Given the description of an element on the screen output the (x, y) to click on. 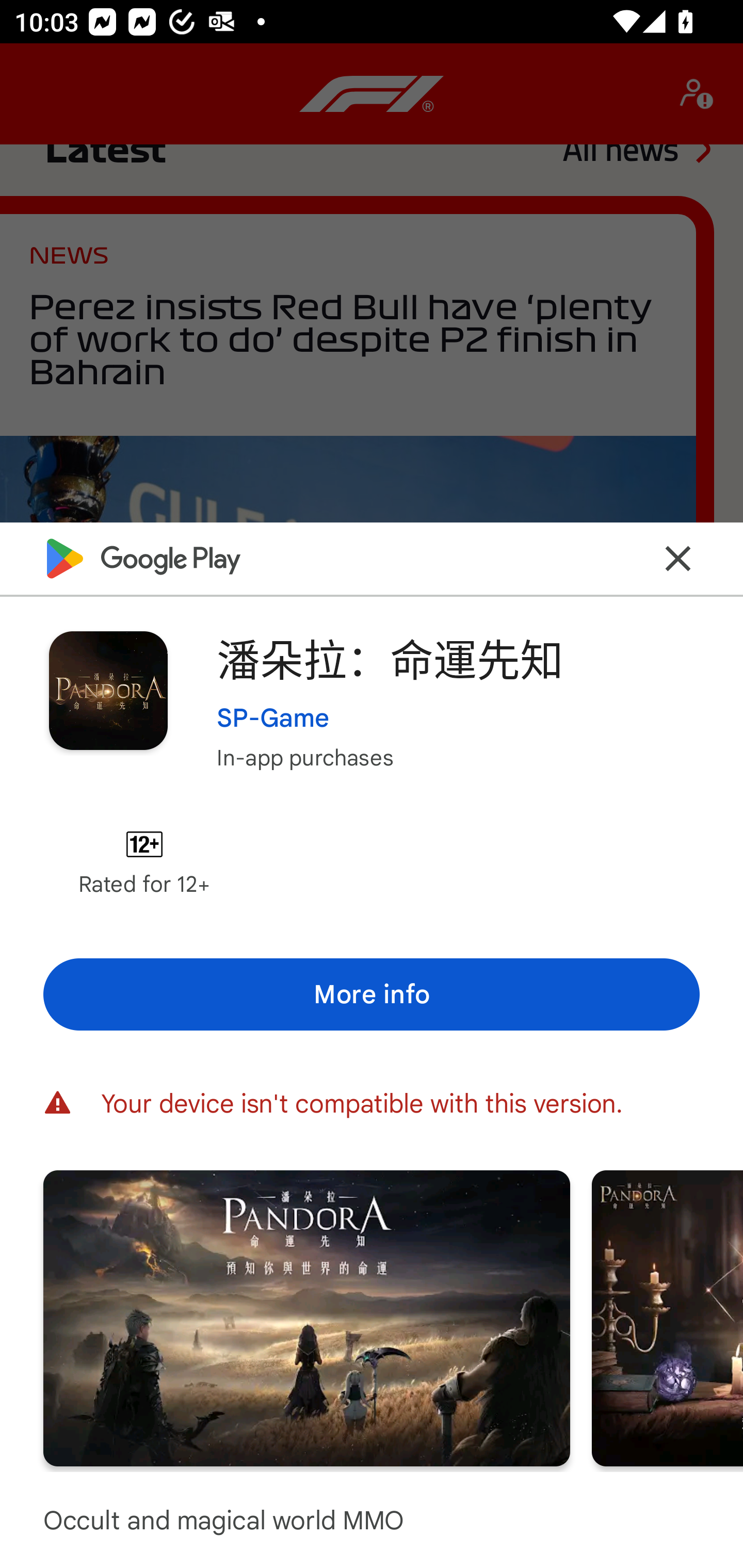
Close (677, 558)
Image of app or game icon for 潘朵拉：命運先知 (108, 690)
SP-Game (272, 716)
More info (371, 994)
Screenshot "1" of "6" (306, 1317)
